Given the description of an element on the screen output the (x, y) to click on. 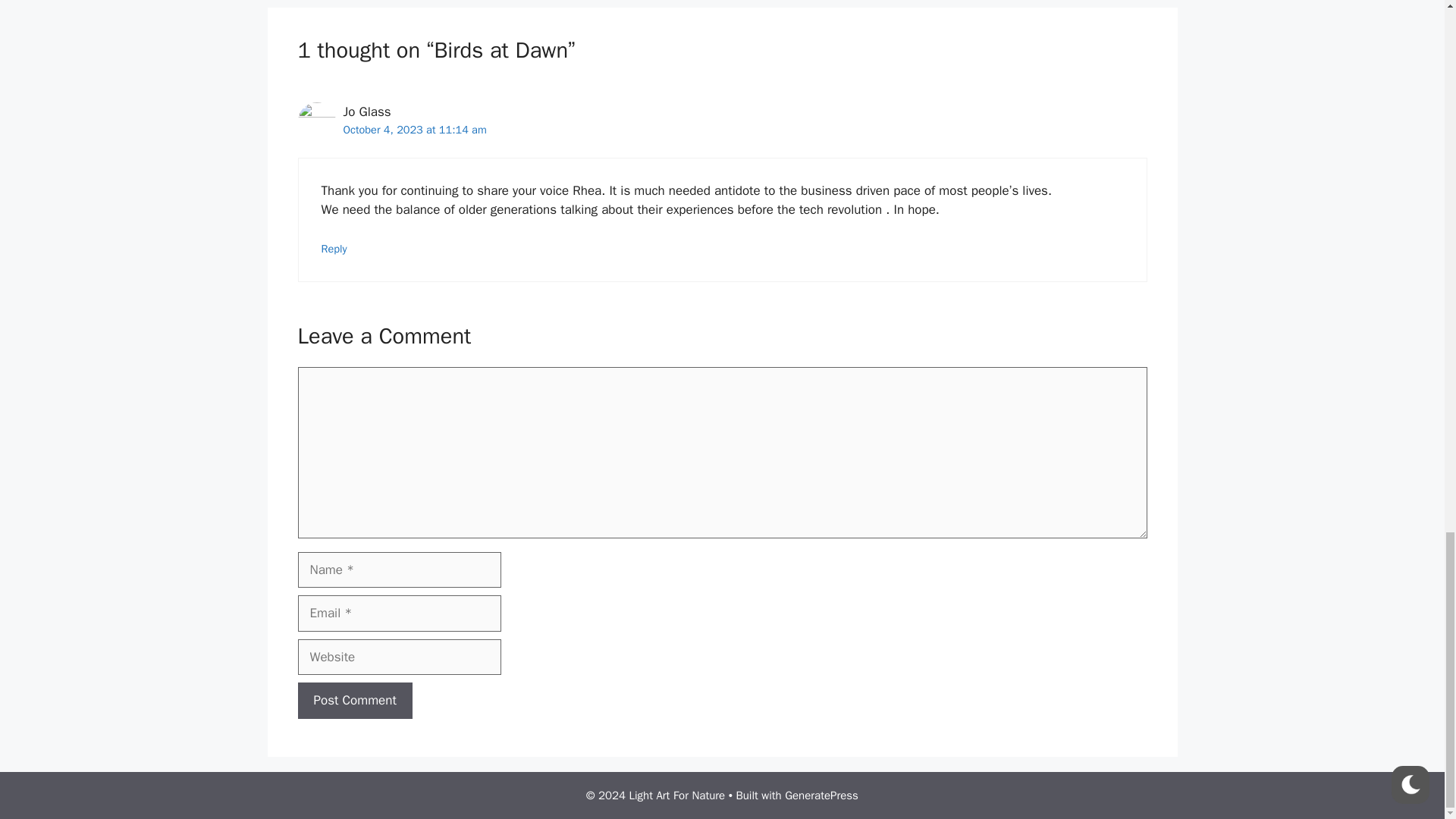
Post Comment (354, 700)
Reply (334, 248)
GeneratePress (821, 795)
October 4, 2023 at 11:14 am (414, 129)
Post Comment (354, 700)
